Given the description of an element on the screen output the (x, y) to click on. 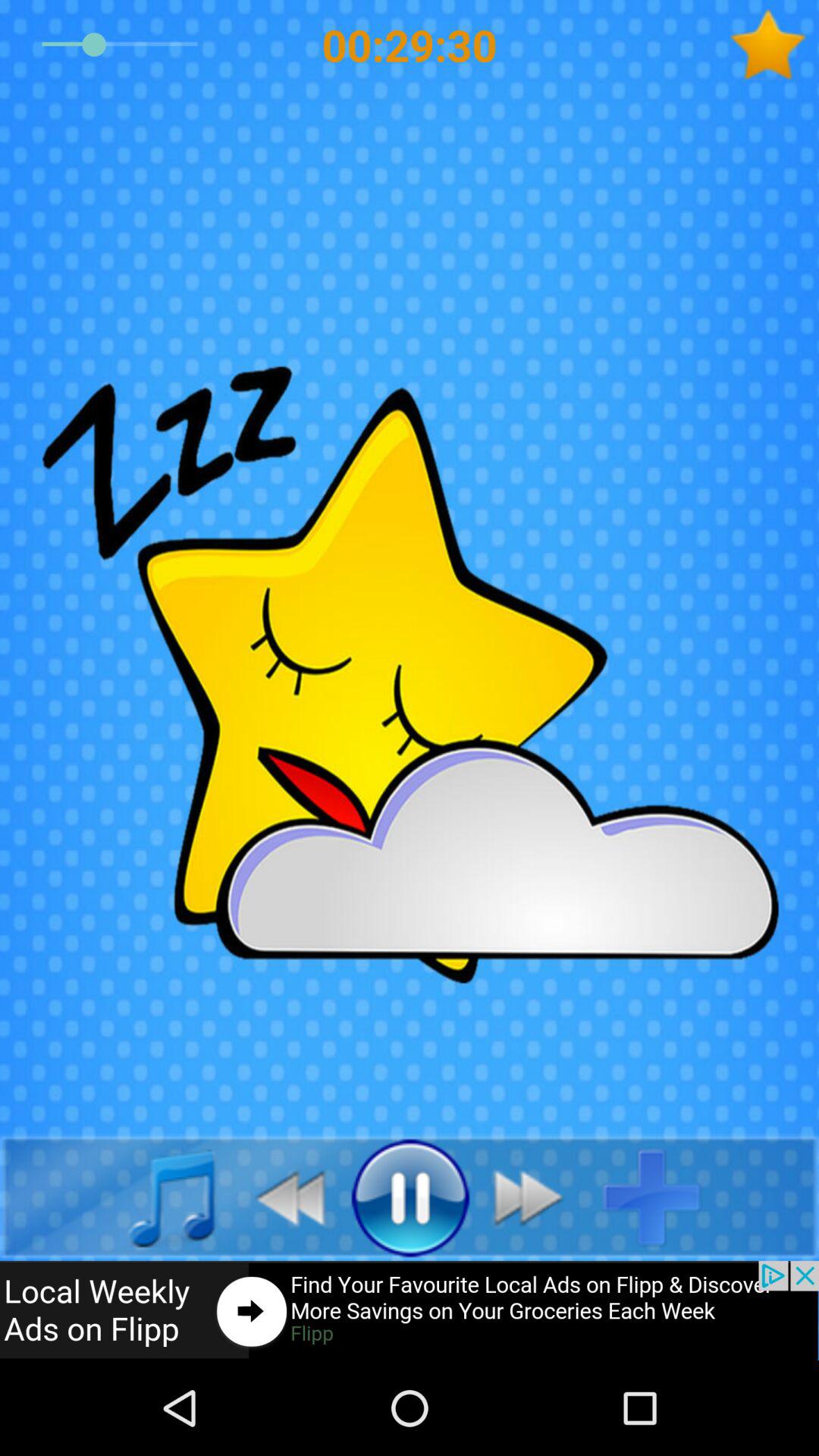
goto back (281, 1196)
